Given the description of an element on the screen output the (x, y) to click on. 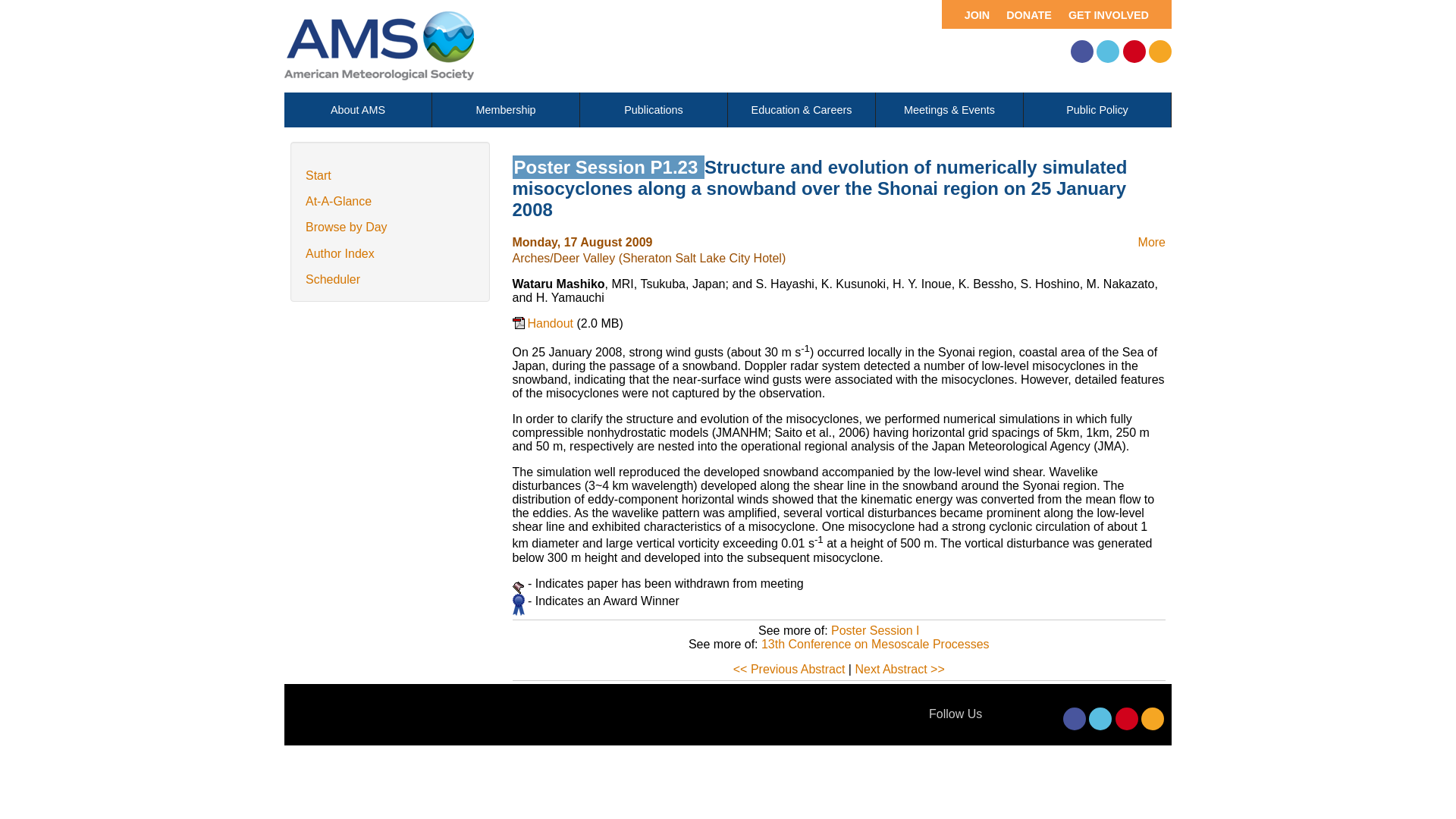
RSS (1152, 718)
DONATE (1025, 14)
Public Policy (1096, 109)
JOIN (968, 14)
13th Conference on Mesoscale Processes (875, 644)
Facebook (1081, 51)
YouTube (1133, 51)
Publications (652, 109)
About AMS (356, 109)
Author Index (339, 253)
